Given the description of an element on the screen output the (x, y) to click on. 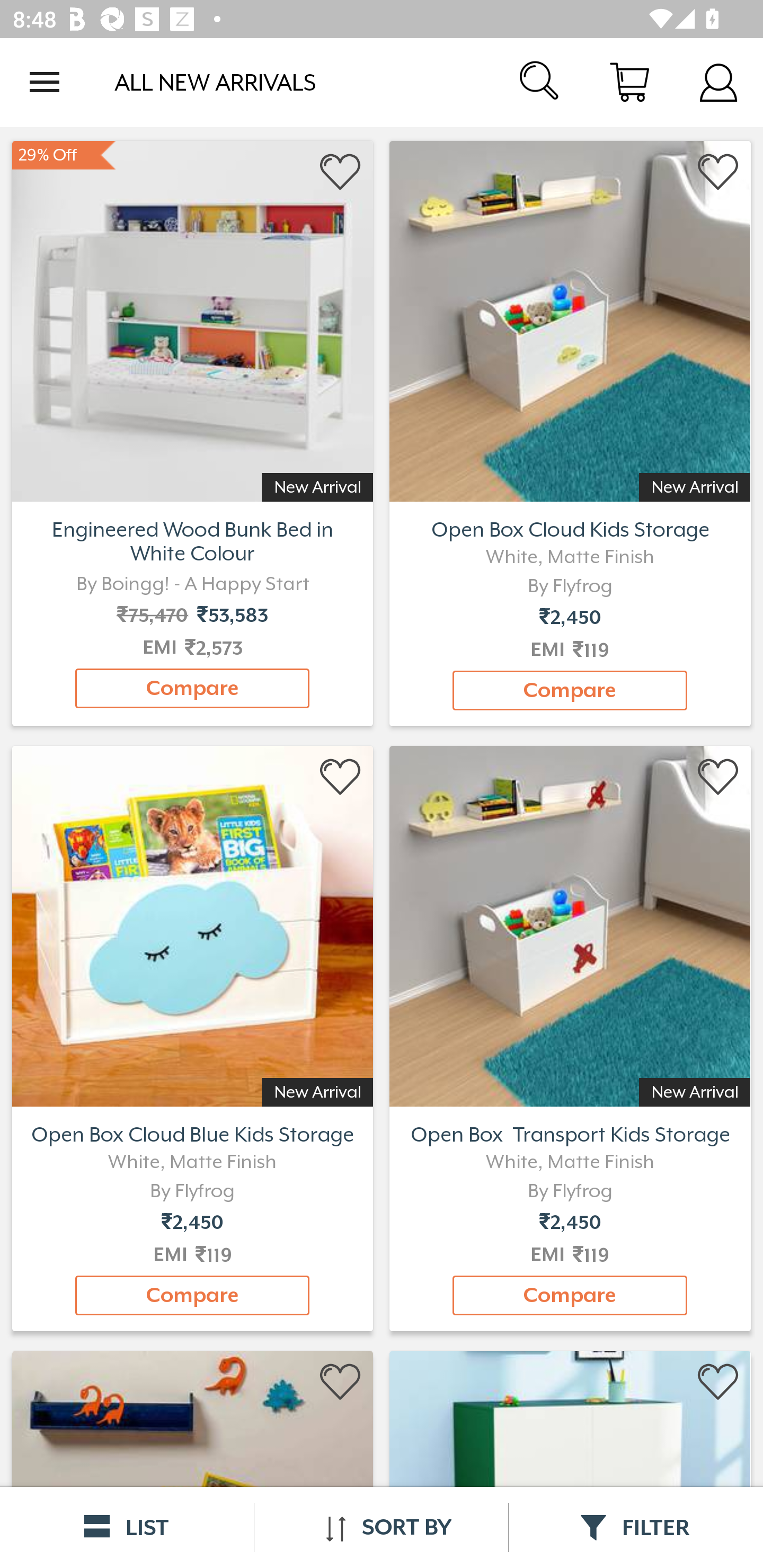
Open navigation drawer (44, 82)
Search (540, 81)
Cart (629, 81)
Account Details (718, 81)
 (341, 172)
 (718, 172)
Compare (192, 687)
Compare (569, 690)
 (341, 777)
 (718, 777)
Compare (192, 1295)
Compare (569, 1295)
 (341, 1382)
 (718, 1382)
 LIST (127, 1527)
SORT BY (381, 1527)
 FILTER (635, 1527)
